Given the description of an element on the screen output the (x, y) to click on. 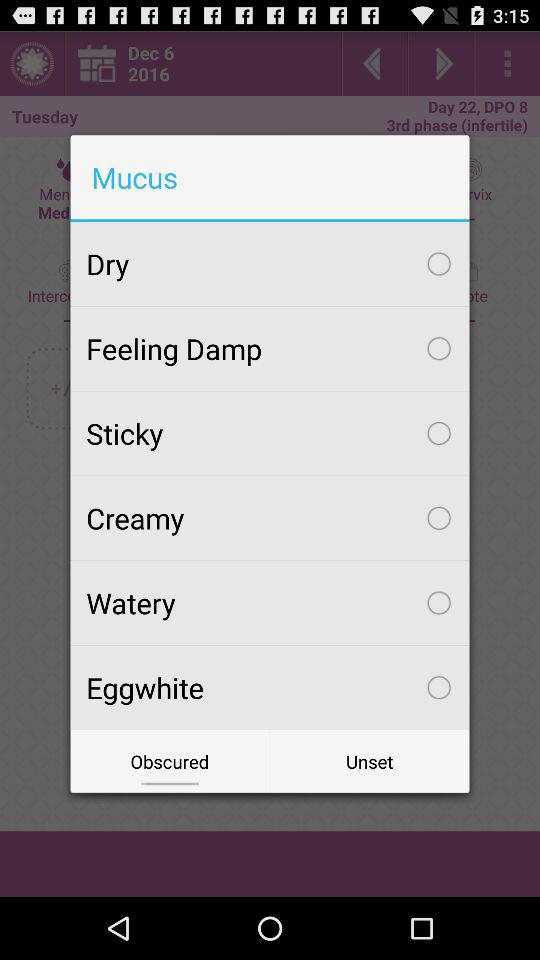
choose unset at the bottom right corner (369, 761)
